Given the description of an element on the screen output the (x, y) to click on. 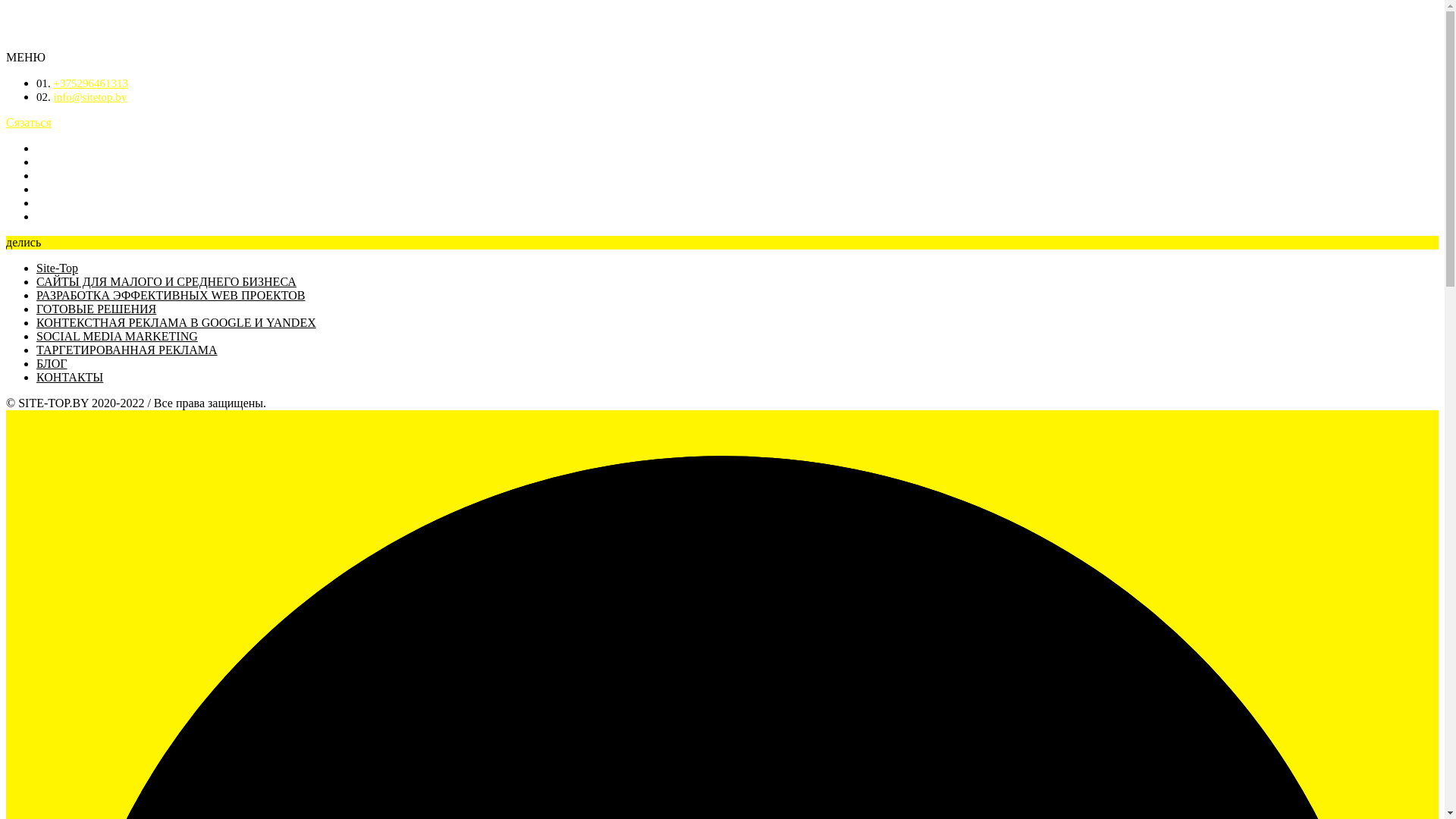
+375296461313 Element type: text (90, 83)
SOCIAL MEDIA MARKETING Element type: text (116, 335)
info@sitetop.by Element type: text (89, 97)
Site-Top Element type: text (57, 267)
